Given the description of an element on the screen output the (x, y) to click on. 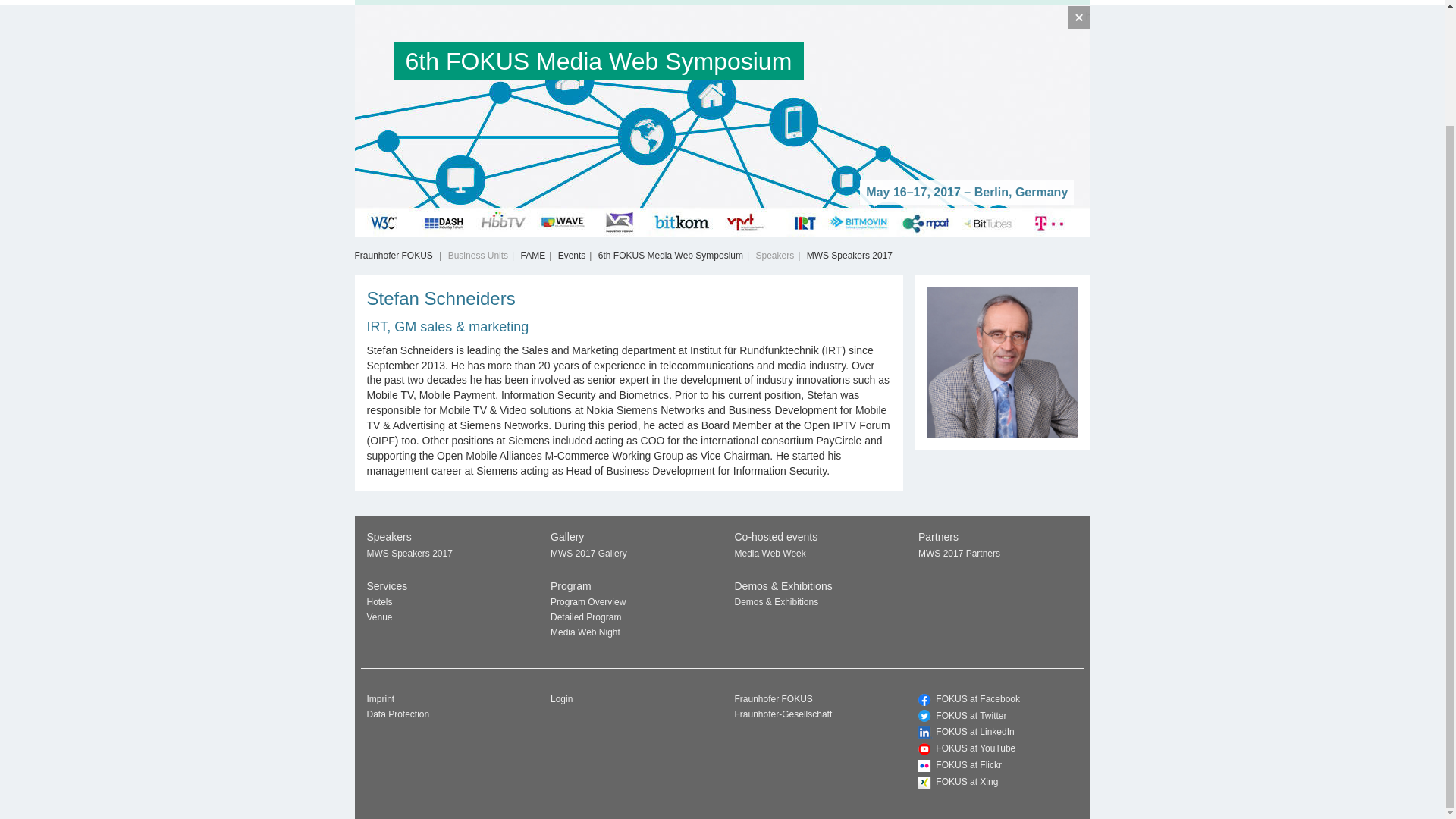
6th FOKUS Media Web Symposium (670, 255)
Program (394, 2)
Hotels (379, 602)
MWS 2017 Gallery (588, 552)
FAME (533, 255)
MWS Speakers 2017 (849, 255)
Gallery (919, 2)
Events (571, 255)
Speakers (466, 2)
Fraunhofer FOKUS (393, 255)
Venue (379, 616)
Services (653, 2)
MWS Speakers 2017 (409, 552)
6th FOKUS Media Web Symposium (679, 65)
Co-hosted events (561, 2)
